Given the description of an element on the screen output the (x, y) to click on. 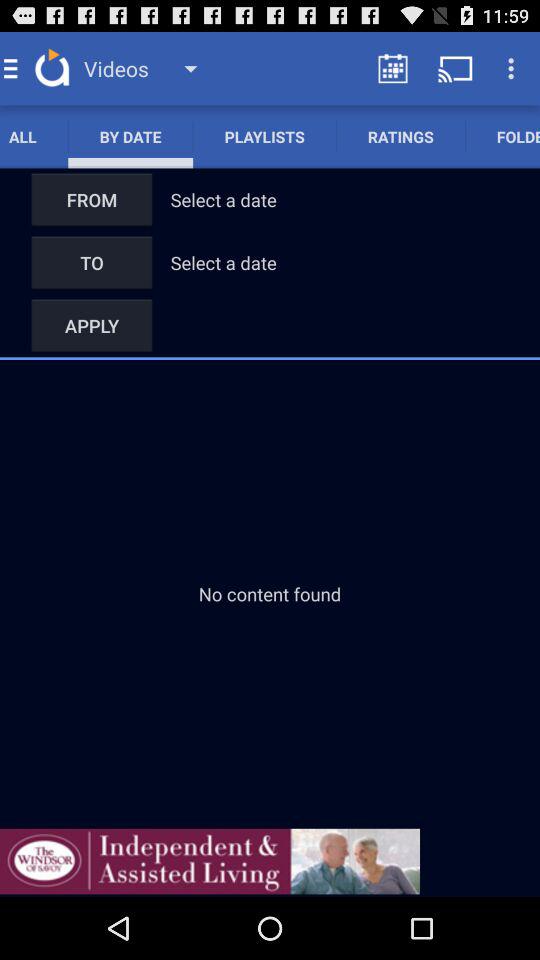
advertisement link (210, 861)
